Given the description of an element on the screen output the (x, y) to click on. 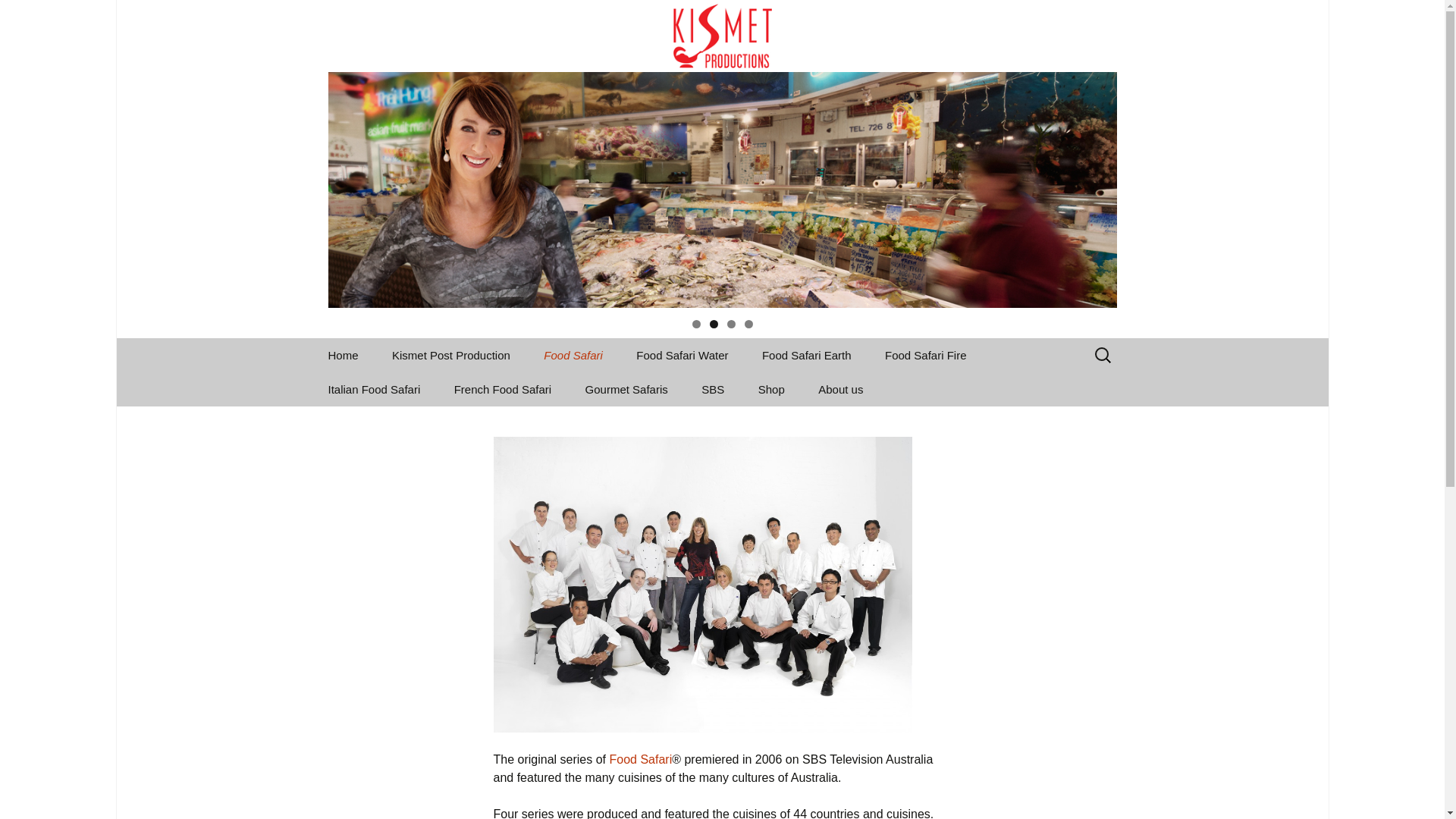
Skip to content Element type: text (312, 337)
Search Element type: text (18, 15)
About us Element type: text (840, 389)
2 Element type: text (713, 324)
Food Safari Fire Element type: text (925, 355)
Food Safari Earth Element type: text (806, 355)
Contact Element type: text (878, 423)
Food Safari 1-4 Element type: text (604, 389)
SBS Element type: text (712, 389)
Home Element type: text (342, 355)
Food Safari Element type: text (639, 759)
1 Element type: text (695, 324)
1
2
3
4 Element type: text (721, 153)
Food Safari Element type: text (573, 355)
Italian Food Safari Element type: text (373, 389)
Shop Element type: text (771, 389)
4 Element type: text (748, 324)
3 Element type: text (730, 324)
Kismet Post Production Element type: text (450, 355)
Food Safari Water Element type: text (682, 355)
French Food Safari Element type: text (502, 389)
Gourmet Safaris Element type: text (626, 389)
